Given the description of an element on the screen output the (x, y) to click on. 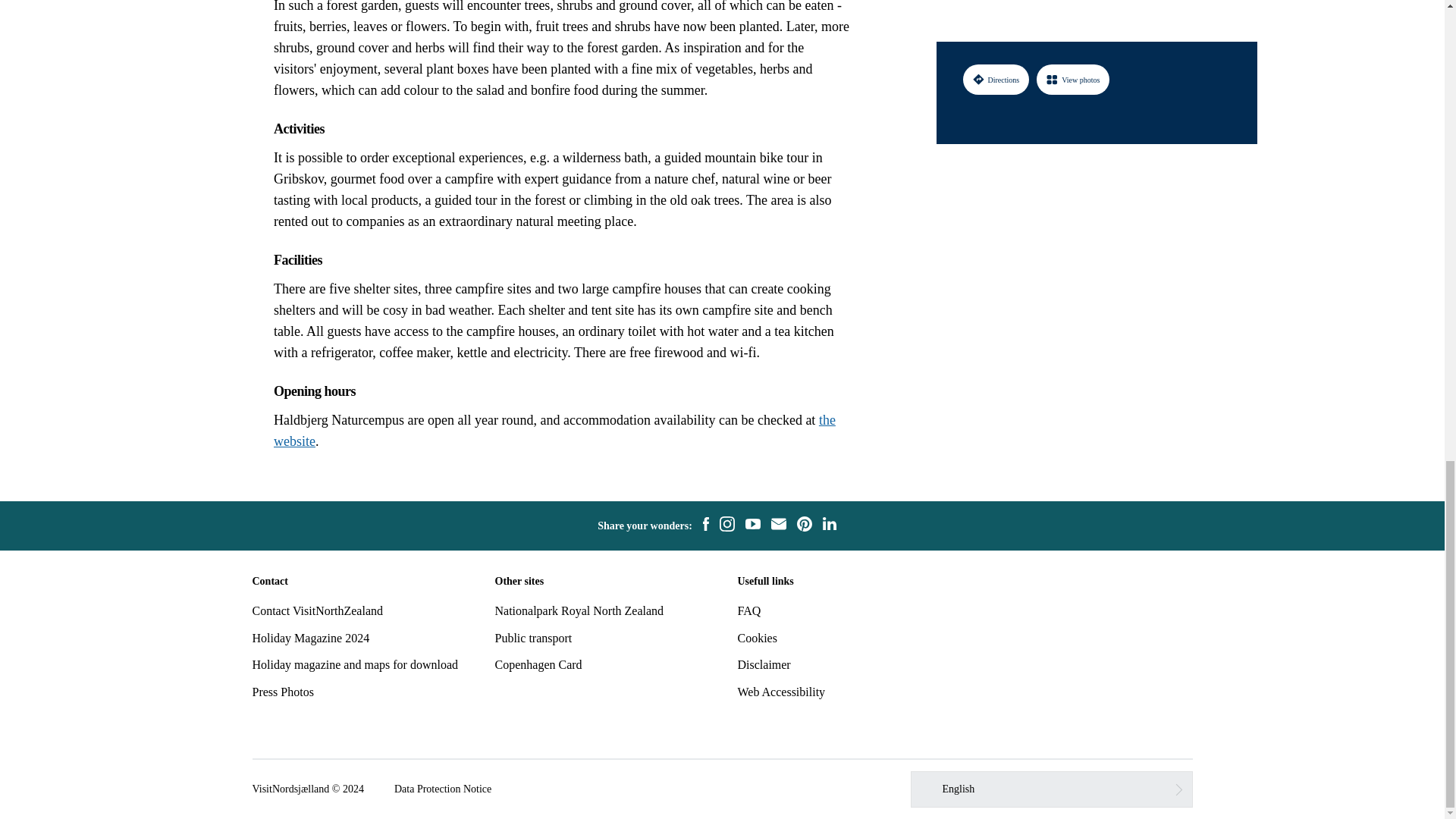
Data Protection Notice (443, 789)
Nationalpark Royal North Zealand (579, 610)
Web Accessibility (780, 691)
Copenhagen Card (537, 664)
Press Photos (282, 691)
the website (554, 430)
Contact VisitNorthZealand (316, 610)
newsletter (778, 526)
Data Protection Notice (443, 789)
Public transport (533, 637)
pinterest (804, 526)
Holiday Magazine 2024 (310, 637)
Public transport (533, 637)
Web Accessibility (780, 691)
youtube (752, 525)
